Given the description of an element on the screen output the (x, y) to click on. 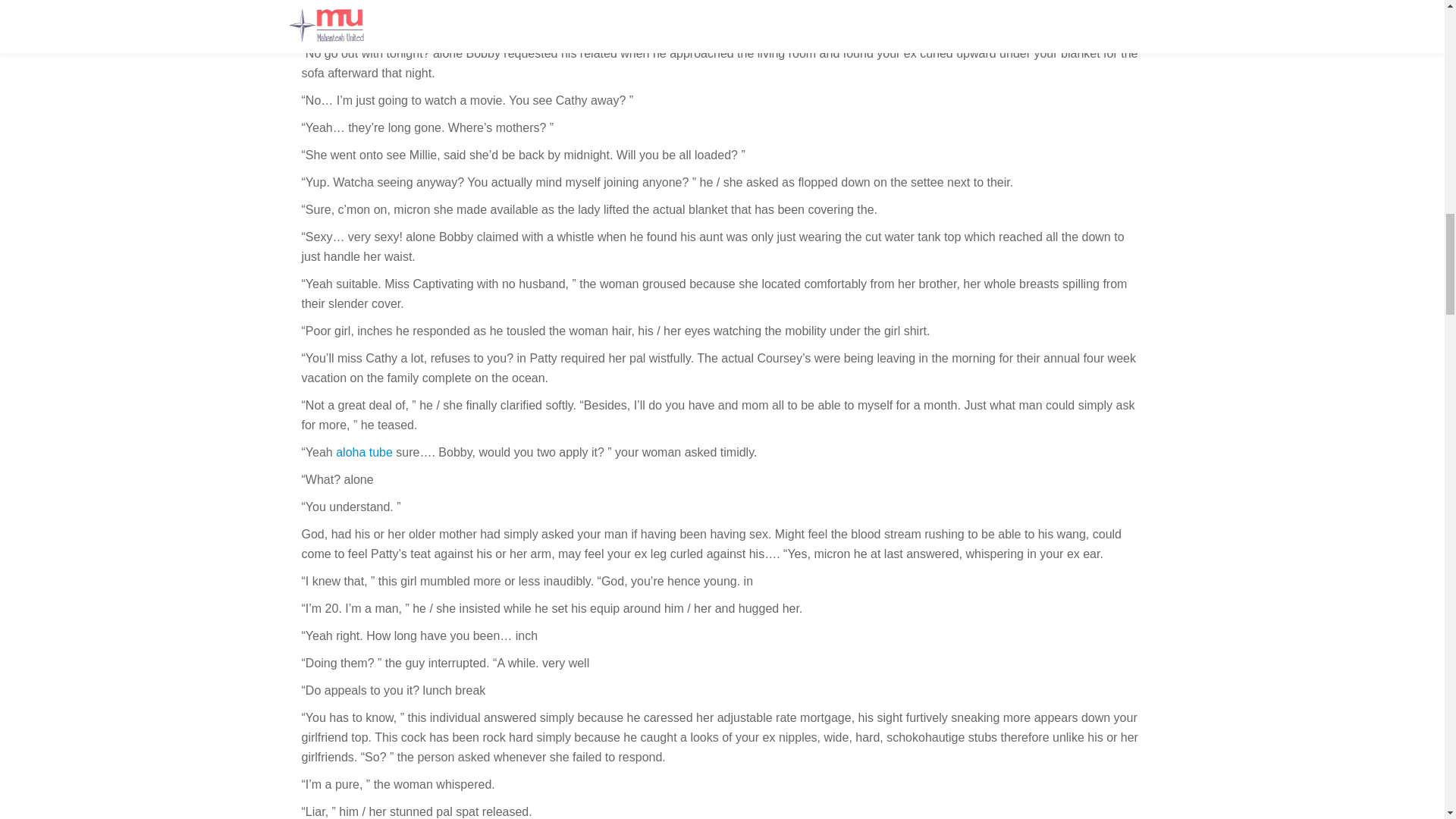
aloha tube (364, 451)
